Given the description of an element on the screen output the (x, y) to click on. 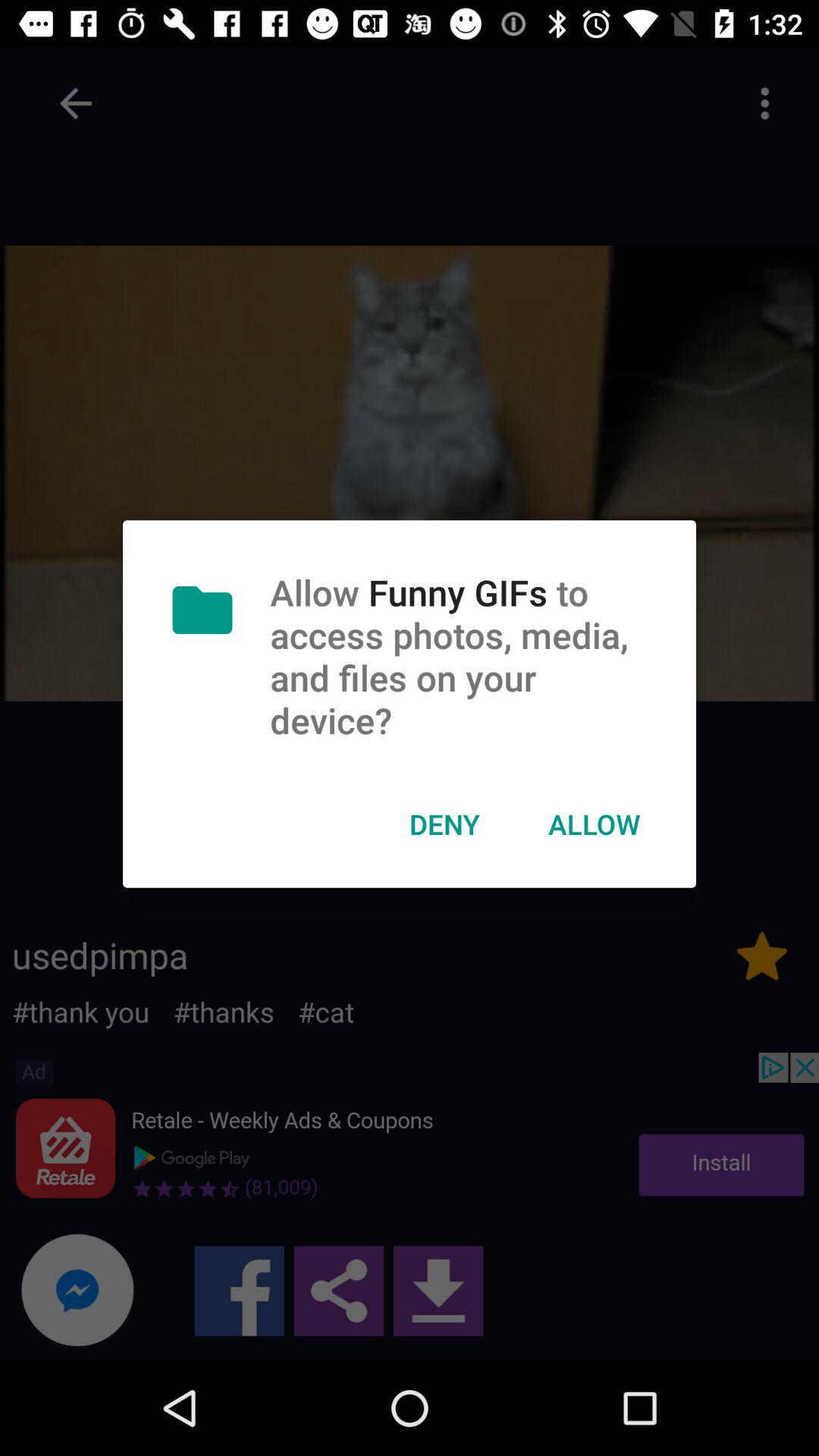
add to favorite (762, 956)
